Given the description of an element on the screen output the (x, y) to click on. 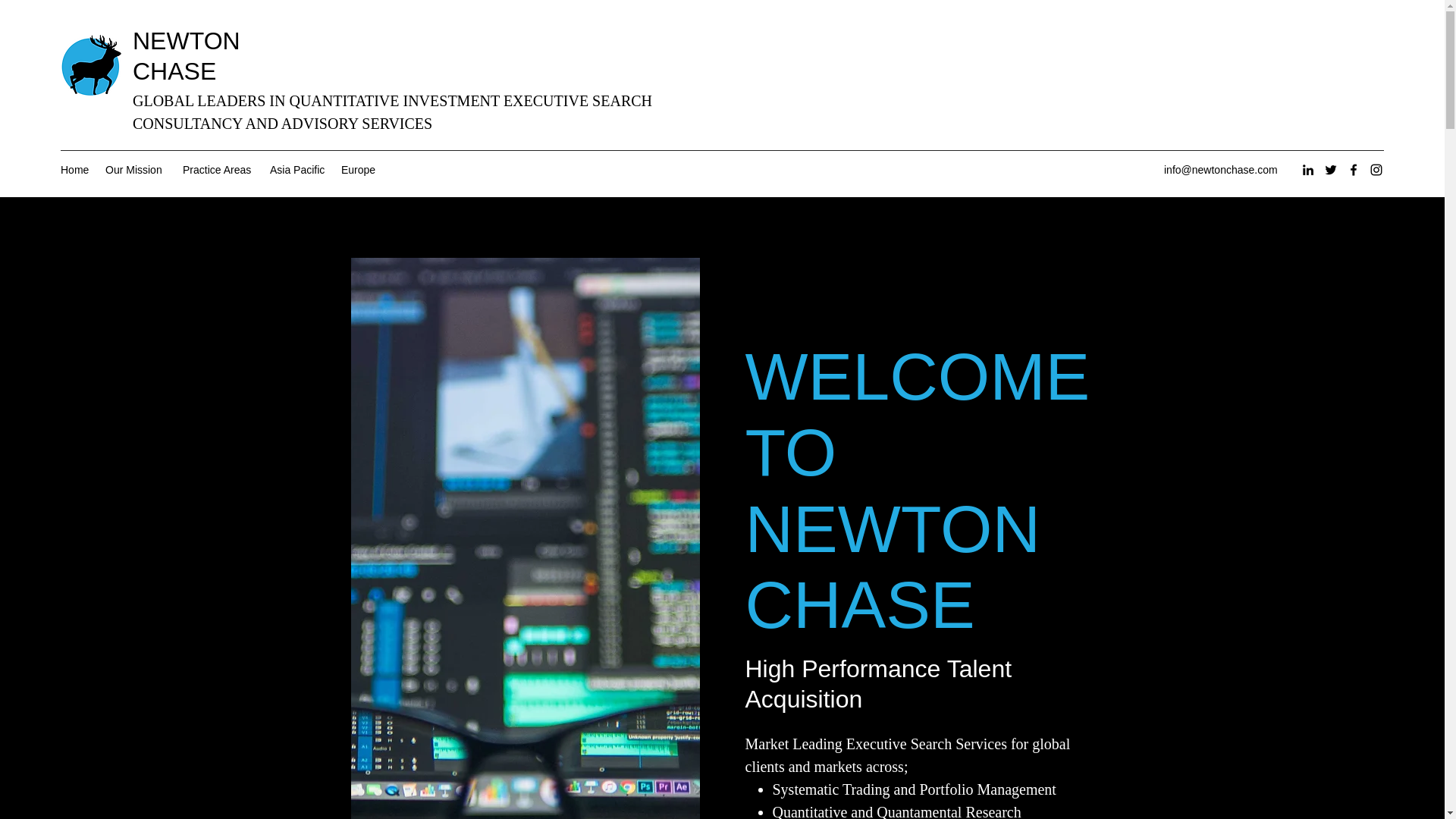
Asia Pacific (297, 169)
Practice Areas (218, 169)
Our Mission (135, 169)
Home (74, 169)
Europe (359, 169)
